Given the description of an element on the screen output the (x, y) to click on. 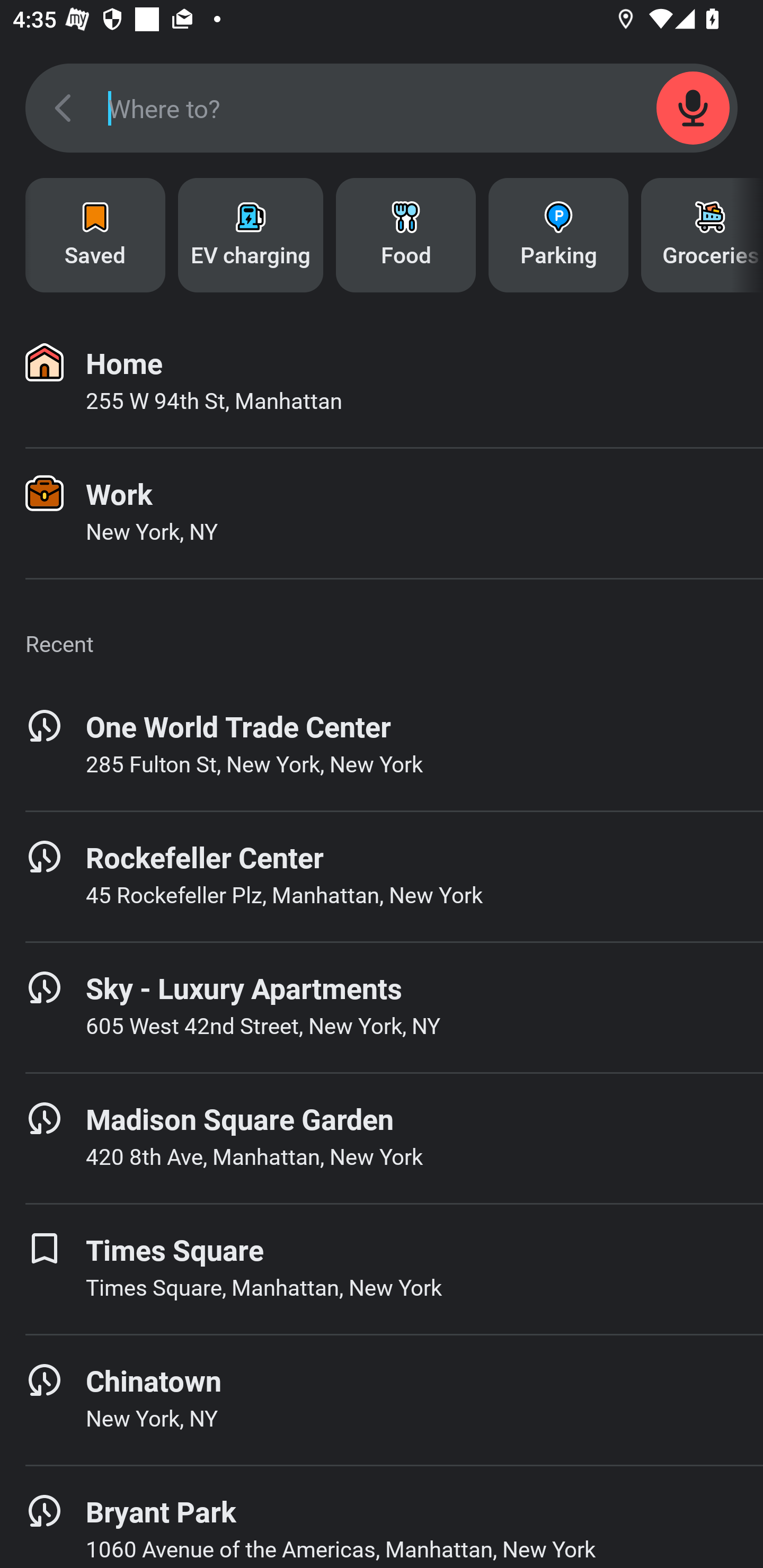
SEARCH_SCREEN_SEARCH_FIELD Where to? (381, 108)
Saved (95, 234)
EV charging (250, 234)
Food (405, 234)
Parking (558, 234)
Groceries (701, 234)
Home 255 W 94th St, Manhattan (381, 382)
Work New York, NY (381, 513)
Times Square Times Square, Manhattan, New York (381, 1269)
Chinatown New York, NY (381, 1399)
